Given the description of an element on the screen output the (x, y) to click on. 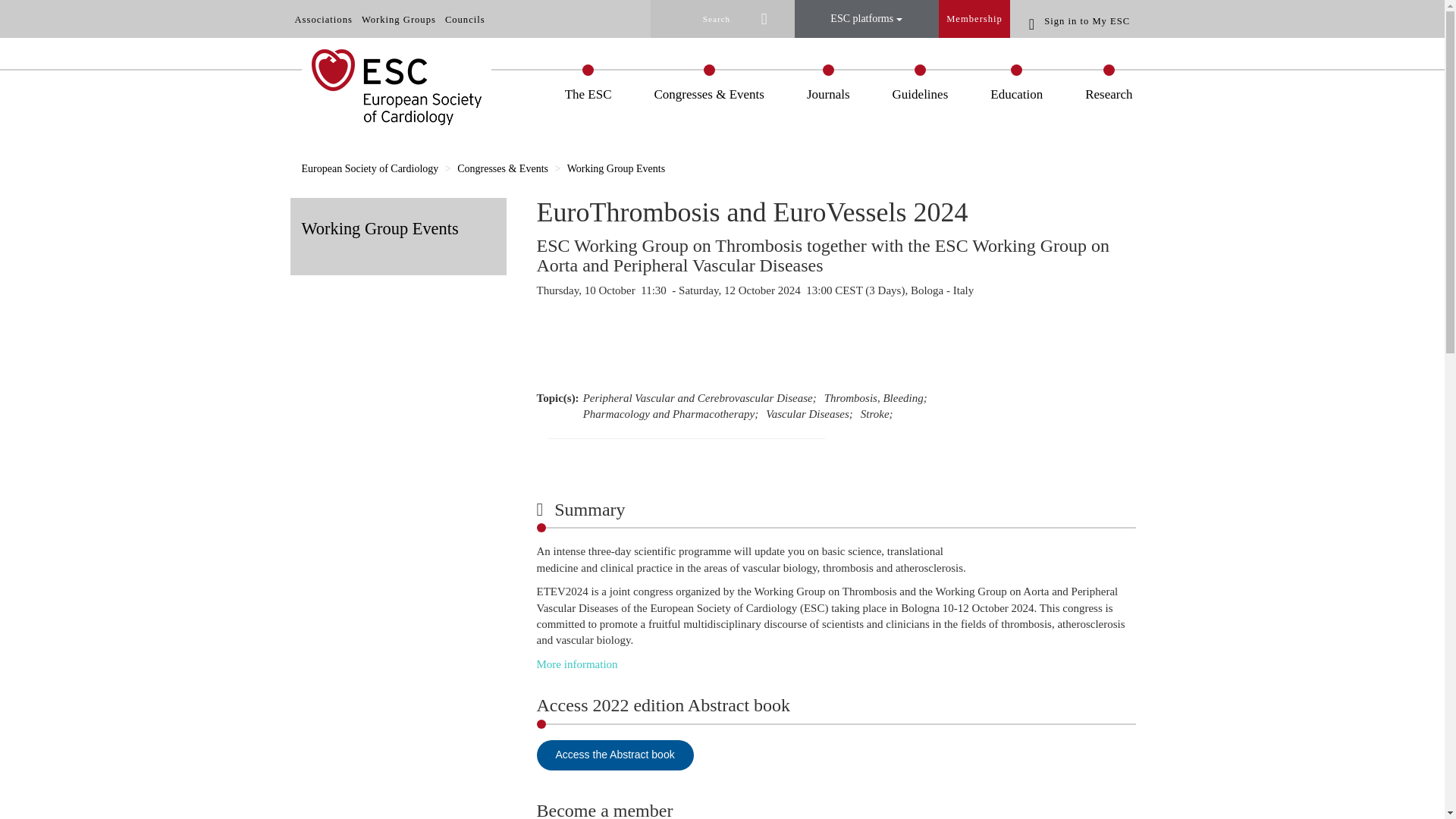
ESC platforms  (866, 18)
Councils (465, 19)
Associations (322, 19)
Sign in to My ESC (1082, 20)
Membership (974, 18)
Working Groups (398, 19)
